Given the description of an element on the screen output the (x, y) to click on. 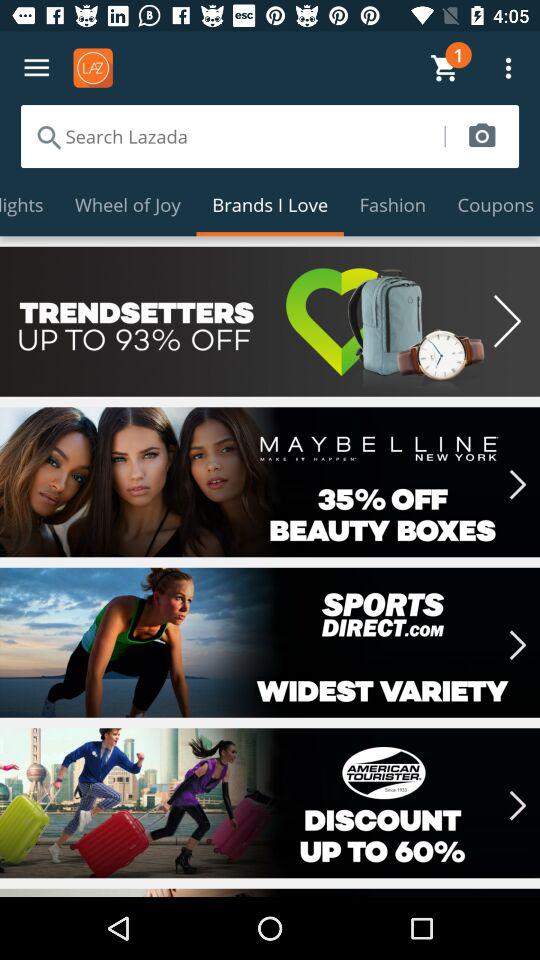
its an advertisement (270, 642)
